Given the description of an element on the screen output the (x, y) to click on. 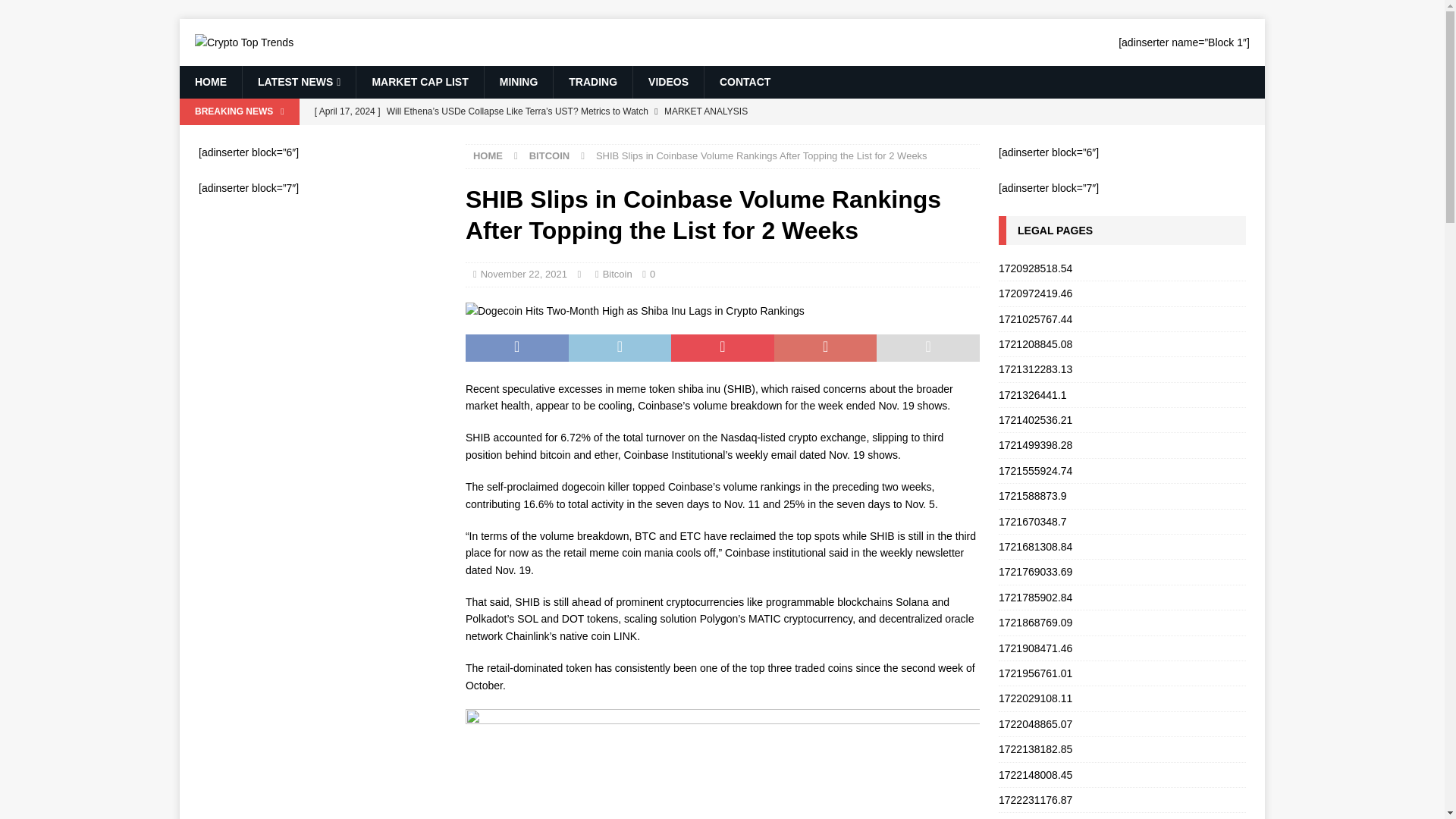
HOME (210, 81)
CONTACT (744, 81)
MINING (518, 81)
LATEST NEWS (298, 81)
TRADING (592, 81)
MARKET CAP LIST (419, 81)
VIDEOS (667, 81)
